Given the description of an element on the screen output the (x, y) to click on. 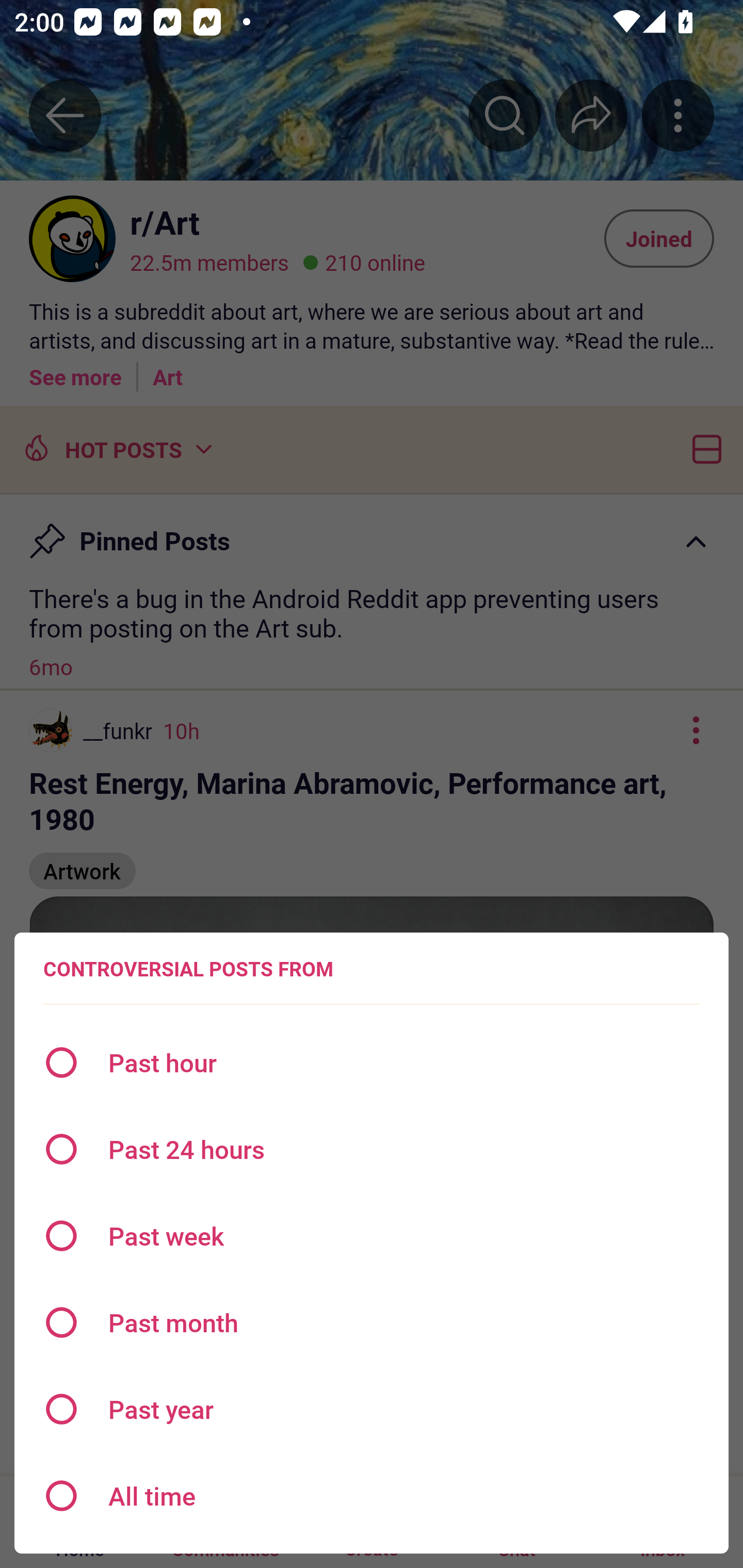
CONTROVERSIAL POSTS FROM (188, 968)
Past hour (371, 1062)
Past 24 hours (371, 1149)
Past week (371, 1236)
Past month (371, 1322)
Past year (371, 1408)
All time (371, 1495)
